Given the description of an element on the screen output the (x, y) to click on. 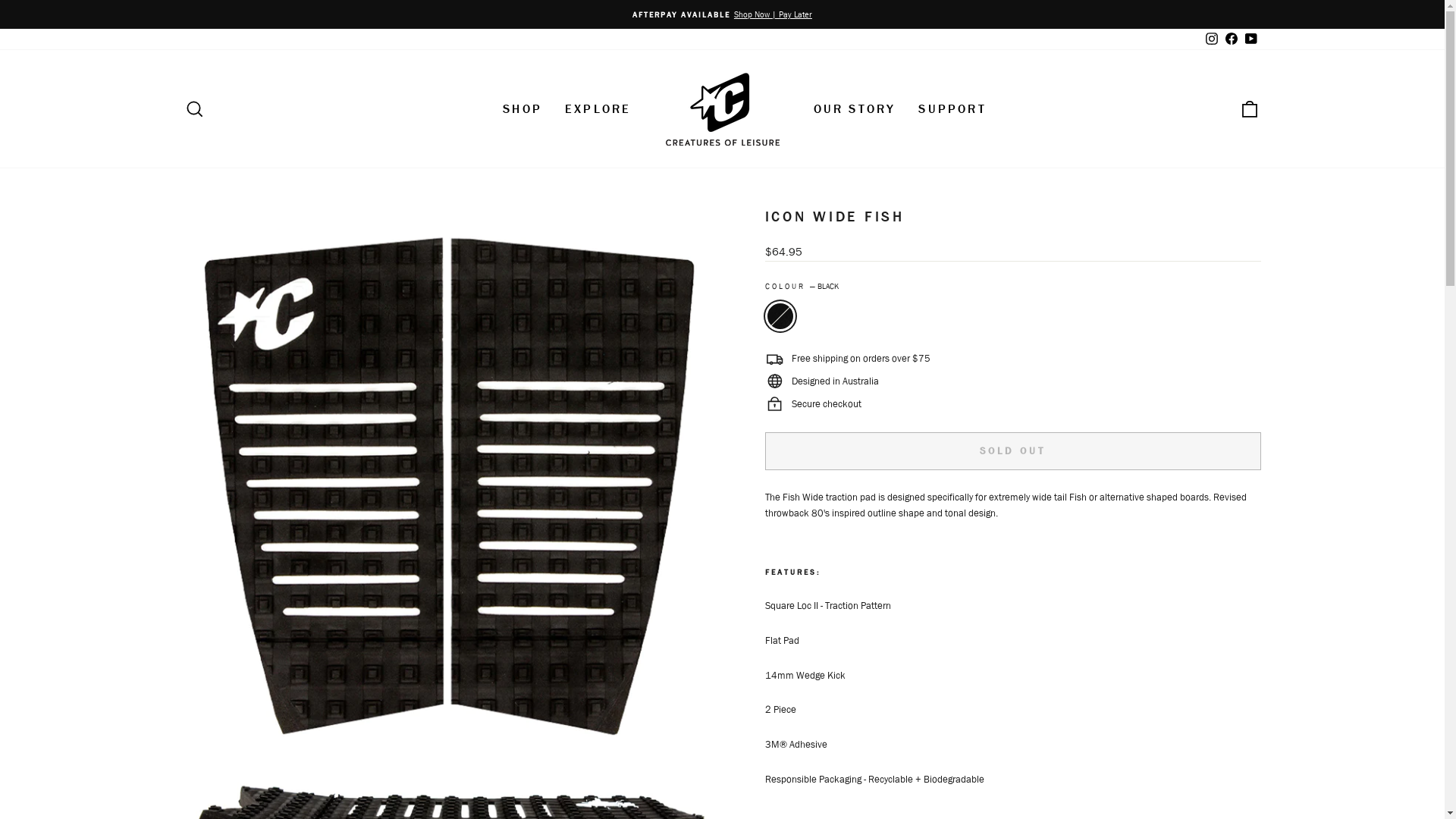
YouTube Element type: text (1250, 39)
Skip to content Element type: text (0, 0)
FREE SHIPPINGOn all orders over $75 Element type: text (722, 14)
CART Element type: text (1249, 108)
OUR STORY Element type: text (854, 108)
SHOP Element type: text (522, 108)
Instagram Element type: text (1210, 39)
SUPPORT Element type: text (951, 108)
Facebook Element type: text (1230, 39)
SOLD OUT Element type: text (1012, 451)
SEARCH Element type: text (193, 108)
EXPLORE Element type: text (597, 108)
